Given the description of an element on the screen output the (x, y) to click on. 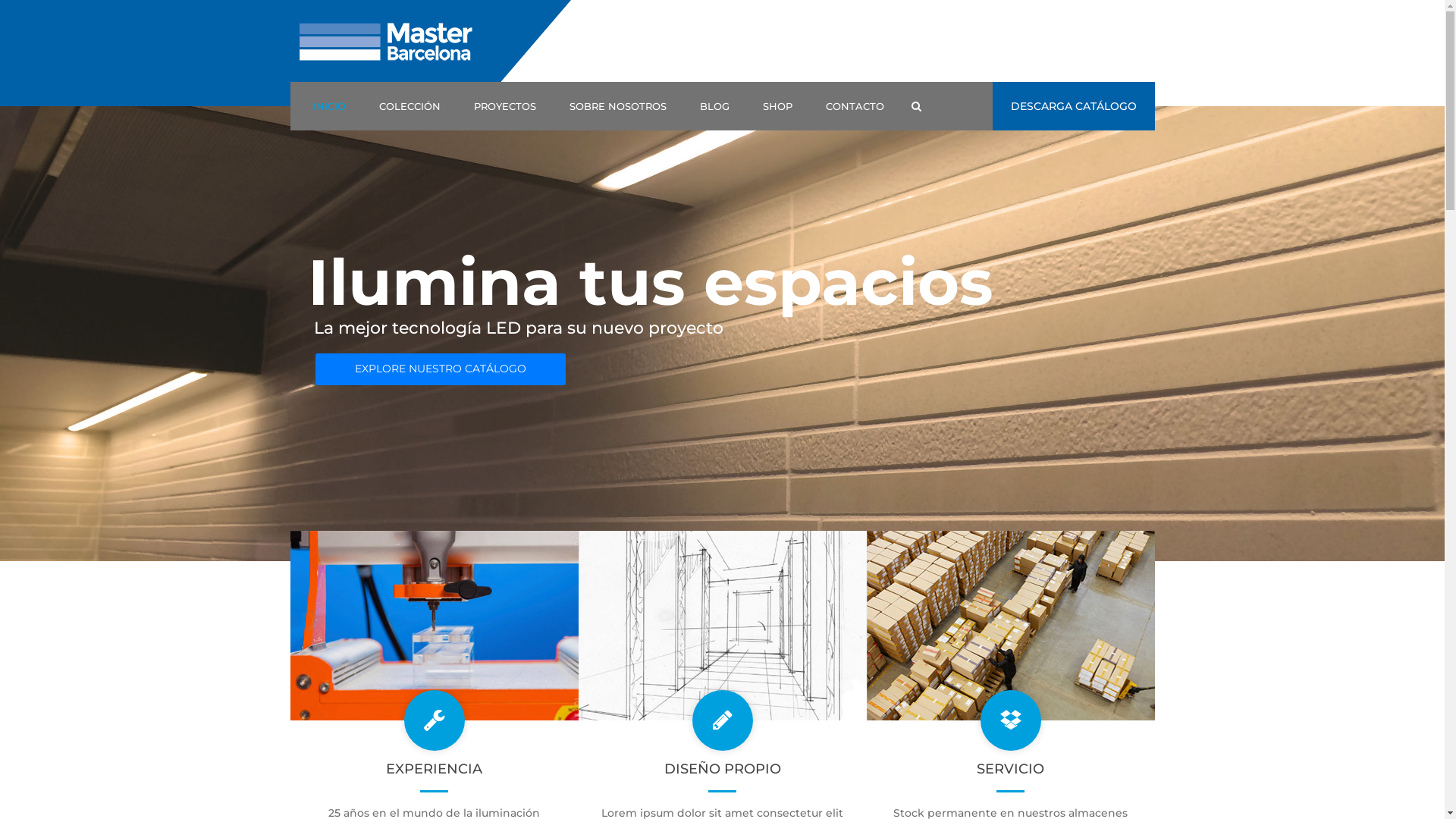
BLOG Element type: text (713, 105)
INICIO Element type: text (328, 105)
CONTACTO Element type: text (854, 105)
SOBRE NOSOTROS Element type: text (617, 105)
SHOP Element type: text (777, 105)
Search Element type: text (915, 105)
PROYECTOS Element type: text (503, 105)
